Given the description of an element on the screen output the (x, y) to click on. 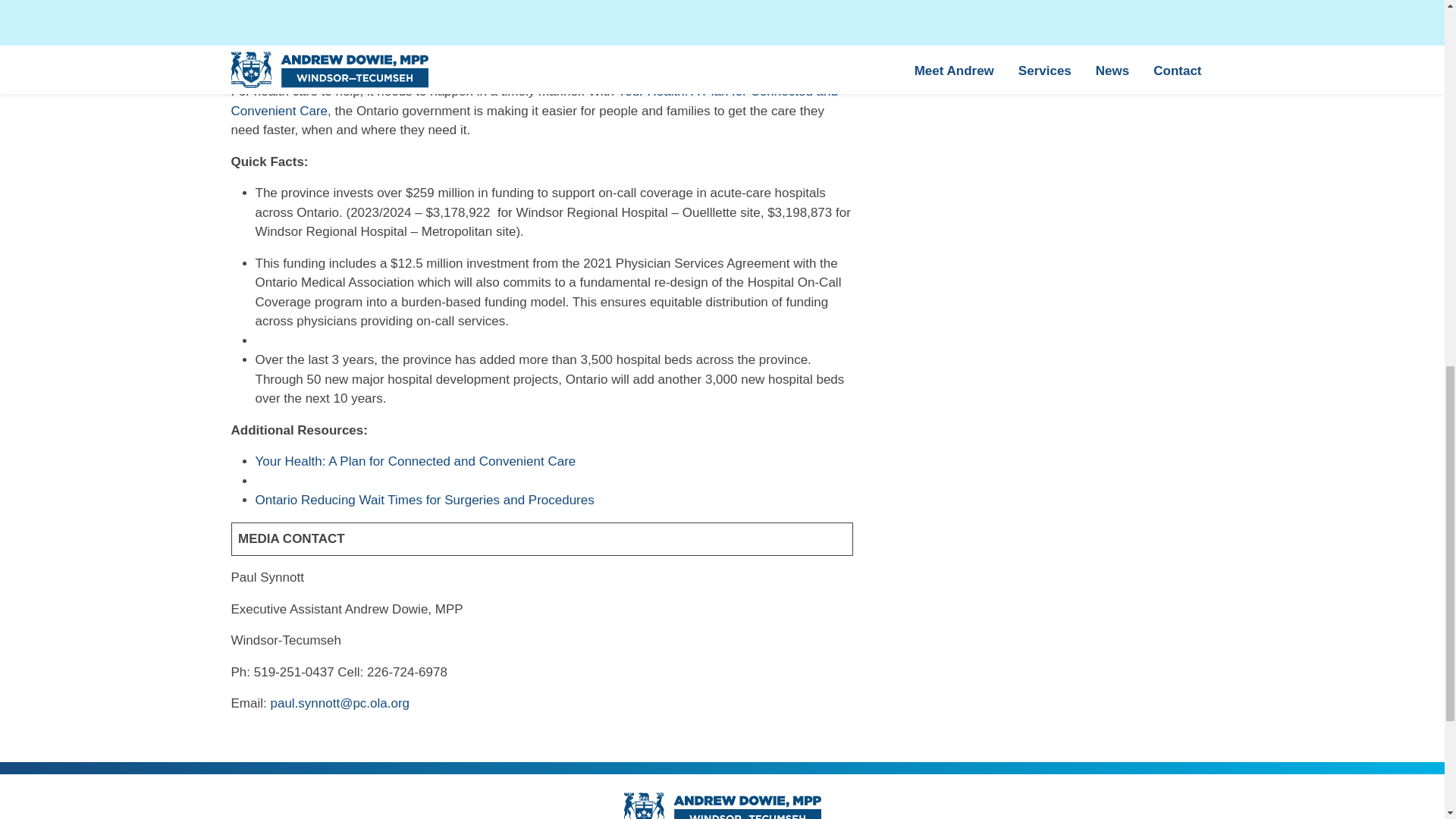
Your Health: A Plan for Connected and Convenient Care (414, 461)
Ontario Reducing Wait Times for Surgeries and Procedures (424, 499)
Your Health: A Plan for Connected and Convenient Care (533, 100)
